Given the description of an element on the screen output the (x, y) to click on. 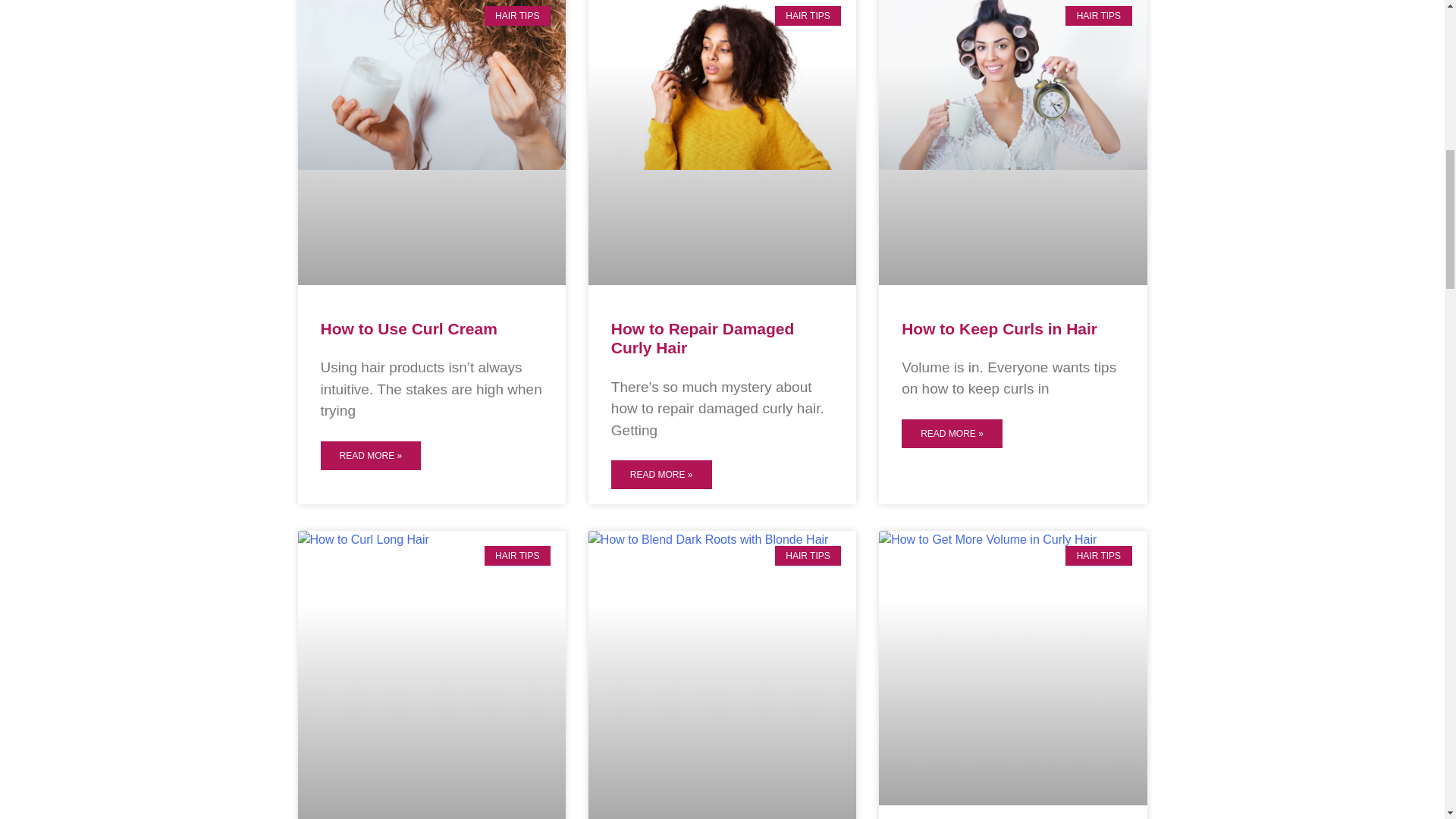
Homepage 25 (431, 84)
How to Keep Curls in Hair (999, 328)
Homepage 35 (1013, 610)
Homepage 31 (431, 620)
Homepage 27 (722, 84)
How to Use Curl Cream (408, 328)
Homepage 33 (722, 620)
How to Repair Damaged Curly Hair (702, 338)
Homepage 29 (1013, 84)
